Given the description of an element on the screen output the (x, y) to click on. 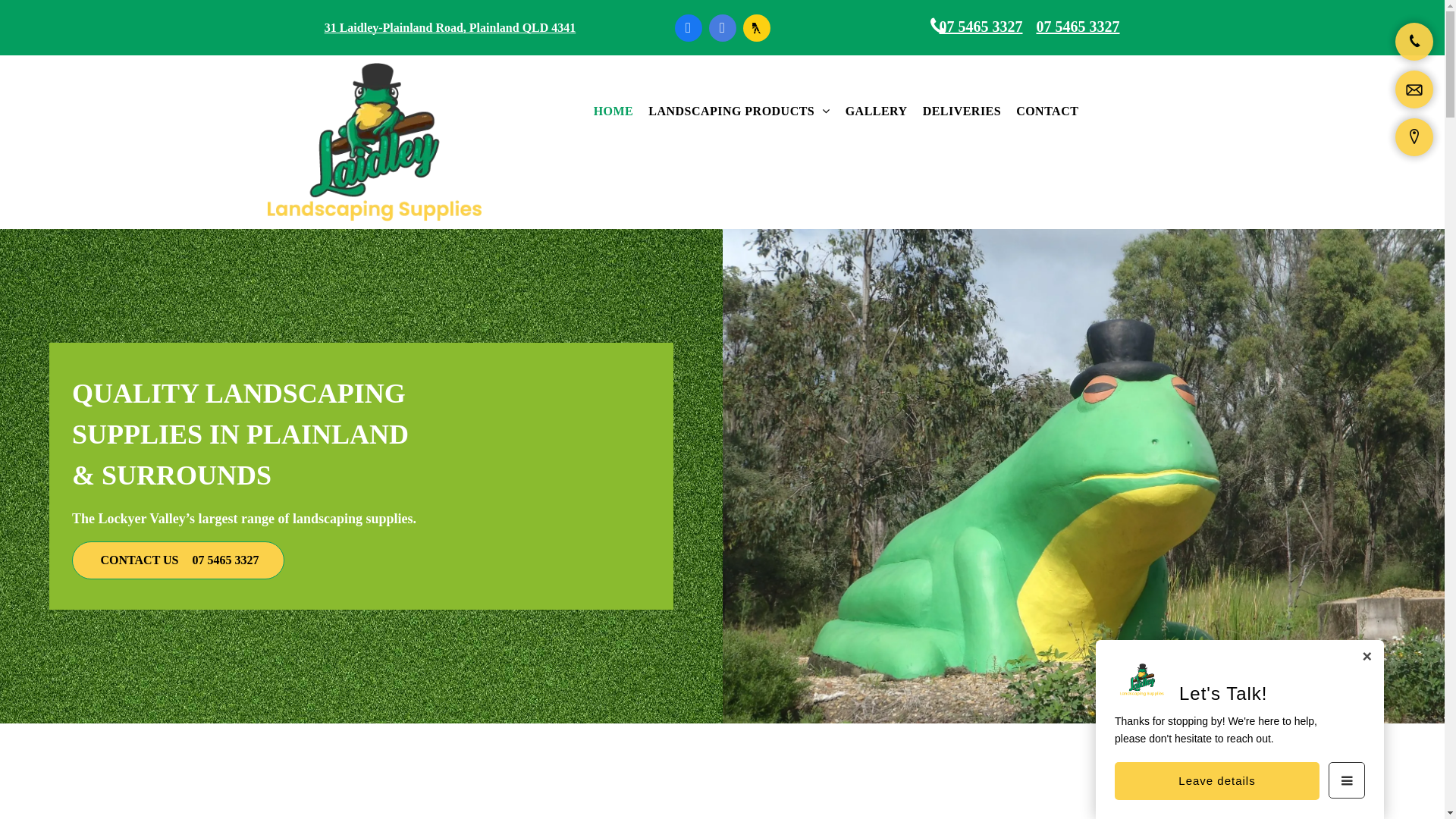
HOME Element type: text (613, 111)
DELIVERIES Element type: text (962, 111)
CONTACT Element type: text (1046, 111)
Leave details Element type: text (1216, 781)
Laidley Landscaping Supplies Element type: hover (373, 141)
LANDSCAPING PRODUCTS Element type: text (738, 111)
CONTACT US 07 5465 3327 Element type: text (178, 560)
GALLERY Element type: text (876, 111)
07 5465 3327 07 5465 3327 Element type: text (994, 26)
31 Laidley-Plainland Road, Plainland QLD 4341 Element type: text (450, 27)
